Given the description of an element on the screen output the (x, y) to click on. 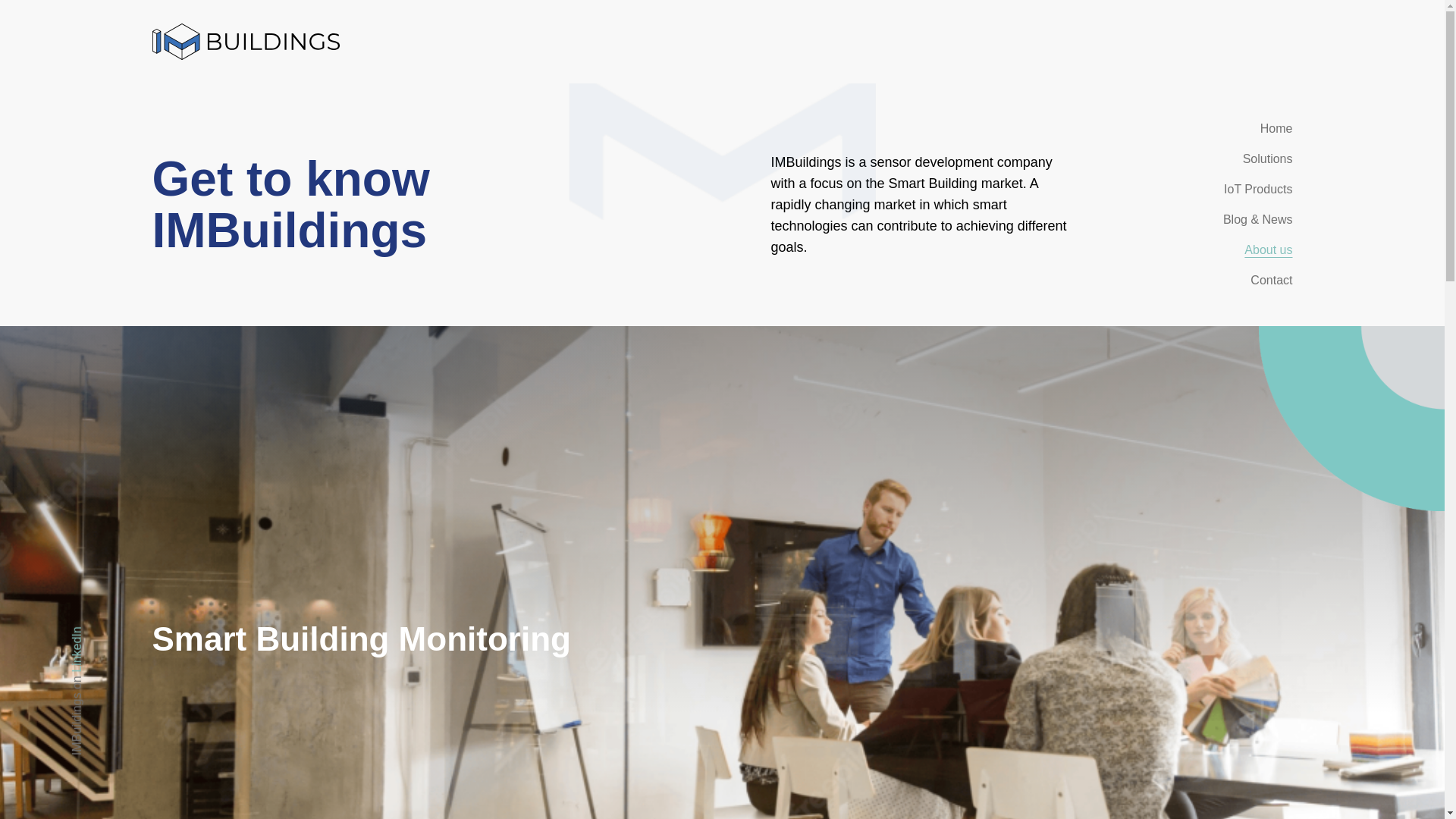
IoT Products (1258, 188)
Home (1276, 128)
IMBuildings on LinkedIn (137, 632)
Contact (1271, 279)
Solutions (1267, 158)
About us (1268, 249)
